Given the description of an element on the screen output the (x, y) to click on. 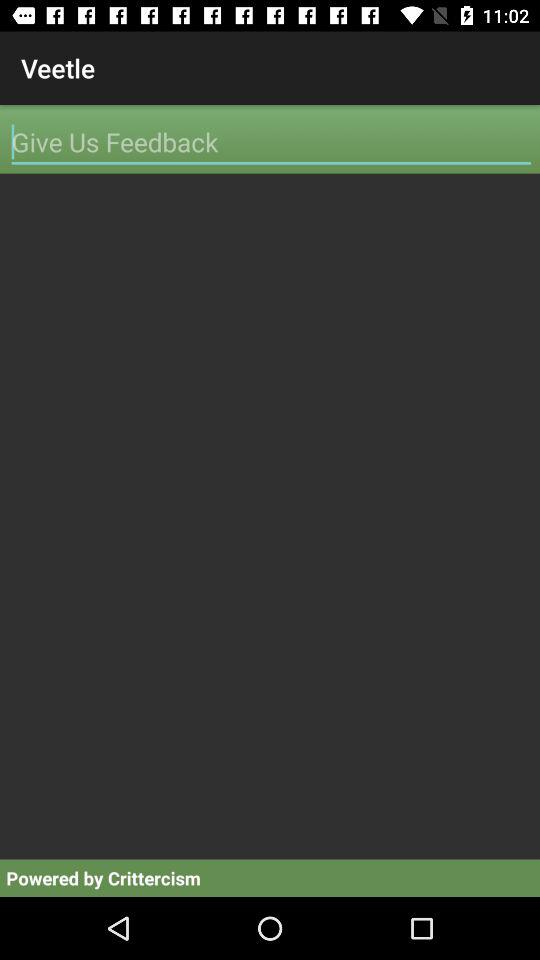
write feedback (271, 142)
